Given the description of an element on the screen output the (x, y) to click on. 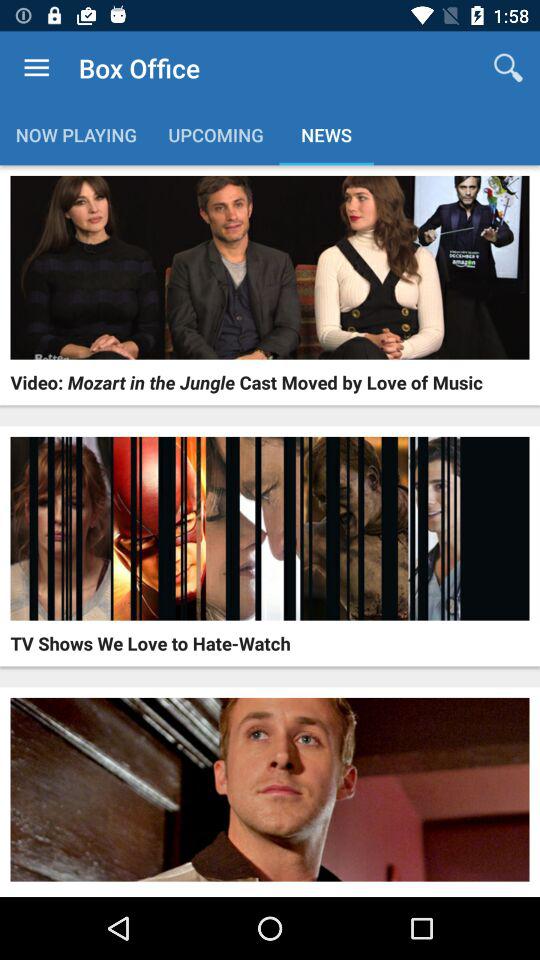
scroll to the video mozart in icon (246, 382)
